Given the description of an element on the screen output the (x, y) to click on. 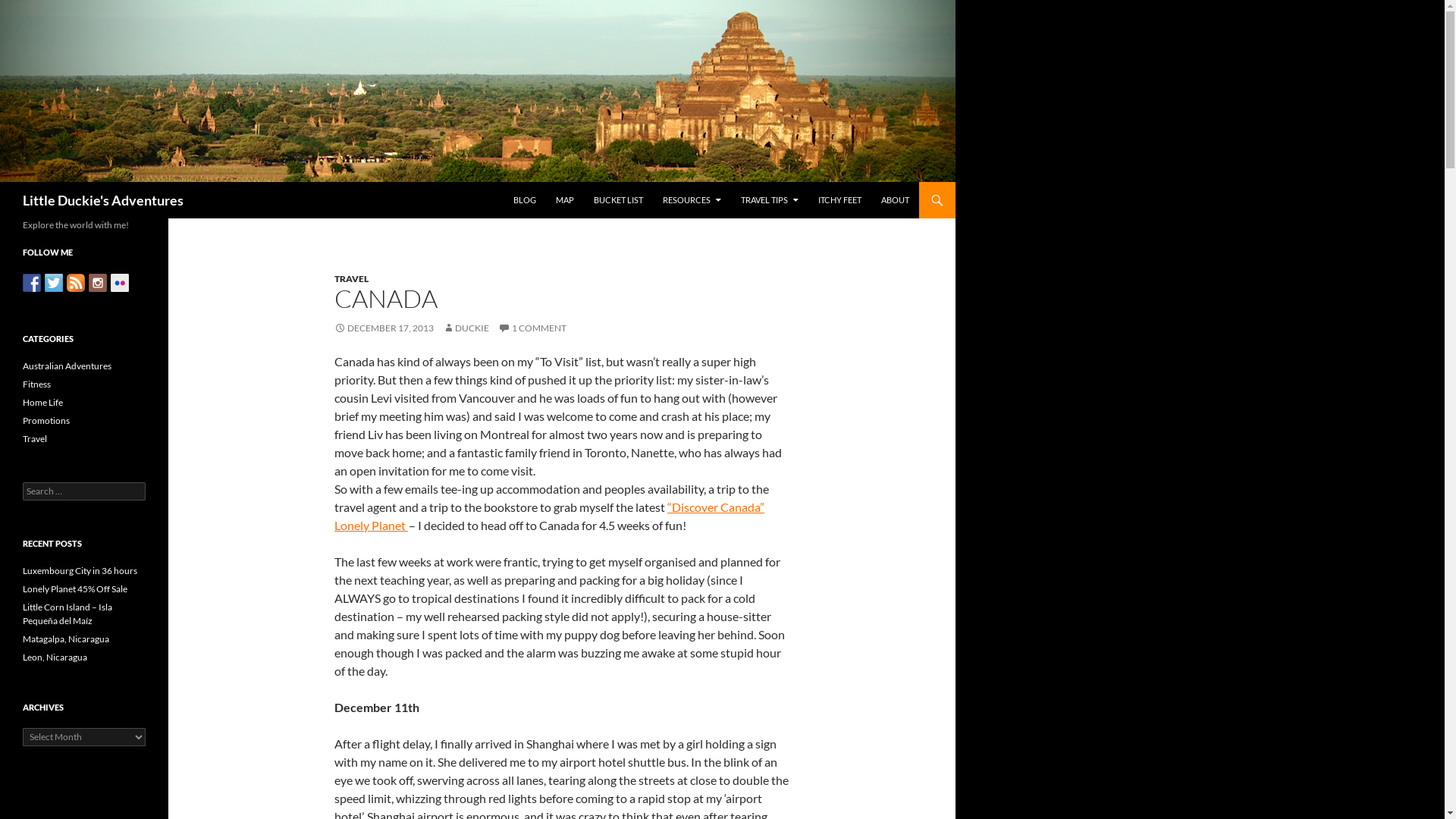
DECEMBER 17, 2013 Element type: text (383, 327)
BUCKET LIST Element type: text (618, 200)
Search Element type: text (3, 181)
Home Life Element type: text (42, 401)
ITCHY FEET Element type: text (839, 200)
TRAVEL Element type: text (351, 278)
DUCKIE Element type: text (465, 327)
MAP Element type: text (564, 200)
TRAVEL TIPS Element type: text (769, 200)
SKIP TO CONTENT Element type: text (512, 181)
Matagalpa, Nicaragua Element type: text (65, 638)
Luxembourg City in 36 hours Element type: text (79, 570)
Leon, Nicaragua Element type: text (54, 656)
Search Element type: text (29, 9)
1 COMMENT Element type: text (532, 327)
Promotions Element type: text (45, 420)
ABOUT Element type: text (895, 200)
Travel Element type: text (34, 438)
BLOG Element type: text (524, 200)
RESOURCES Element type: text (691, 200)
Follow us on Facebook Element type: hover (31, 282)
Fitness Element type: text (36, 383)
Lonely Planet 45% Off Sale Element type: text (74, 588)
Follow us on Twitter Element type: hover (53, 282)
Subscribe to our RSS Feed Element type: hover (75, 282)
Check out our flickr feed Element type: hover (119, 282)
Check out our instagram feed Element type: hover (97, 282)
Little Duckie's Adventures Element type: text (102, 200)
Australian Adventures Element type: text (66, 365)
